Given the description of an element on the screen output the (x, y) to click on. 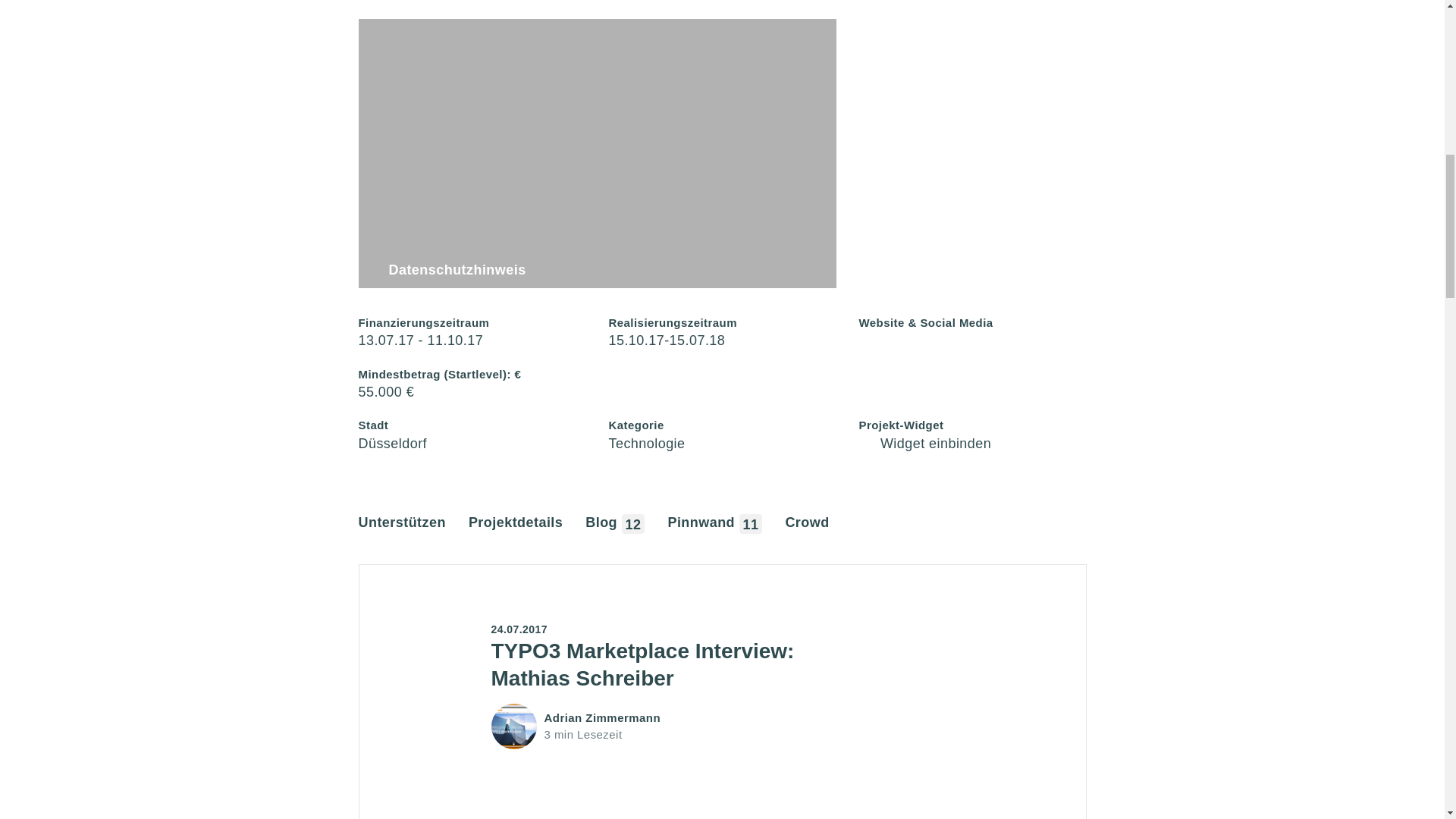
Twitter (867, 340)
Video abspielen (596, 152)
Projekt-Widget (925, 443)
